Given the description of an element on the screen output the (x, y) to click on. 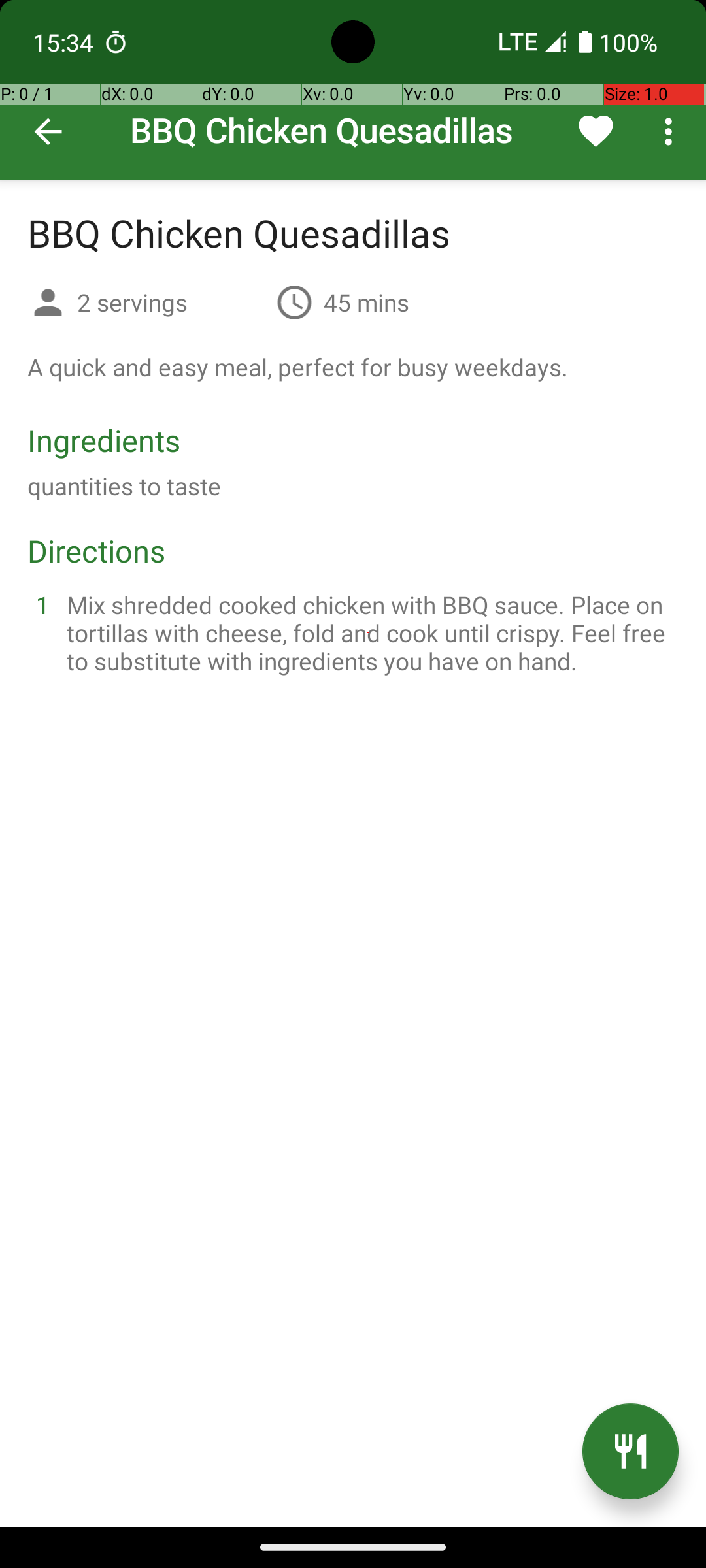
Mix shredded cooked chicken with BBQ sauce. Place on tortillas with cheese, fold and cook until crispy. Feel free to substitute with ingredients you have on hand. Element type: android.widget.TextView (368, 632)
